Given the description of an element on the screen output the (x, y) to click on. 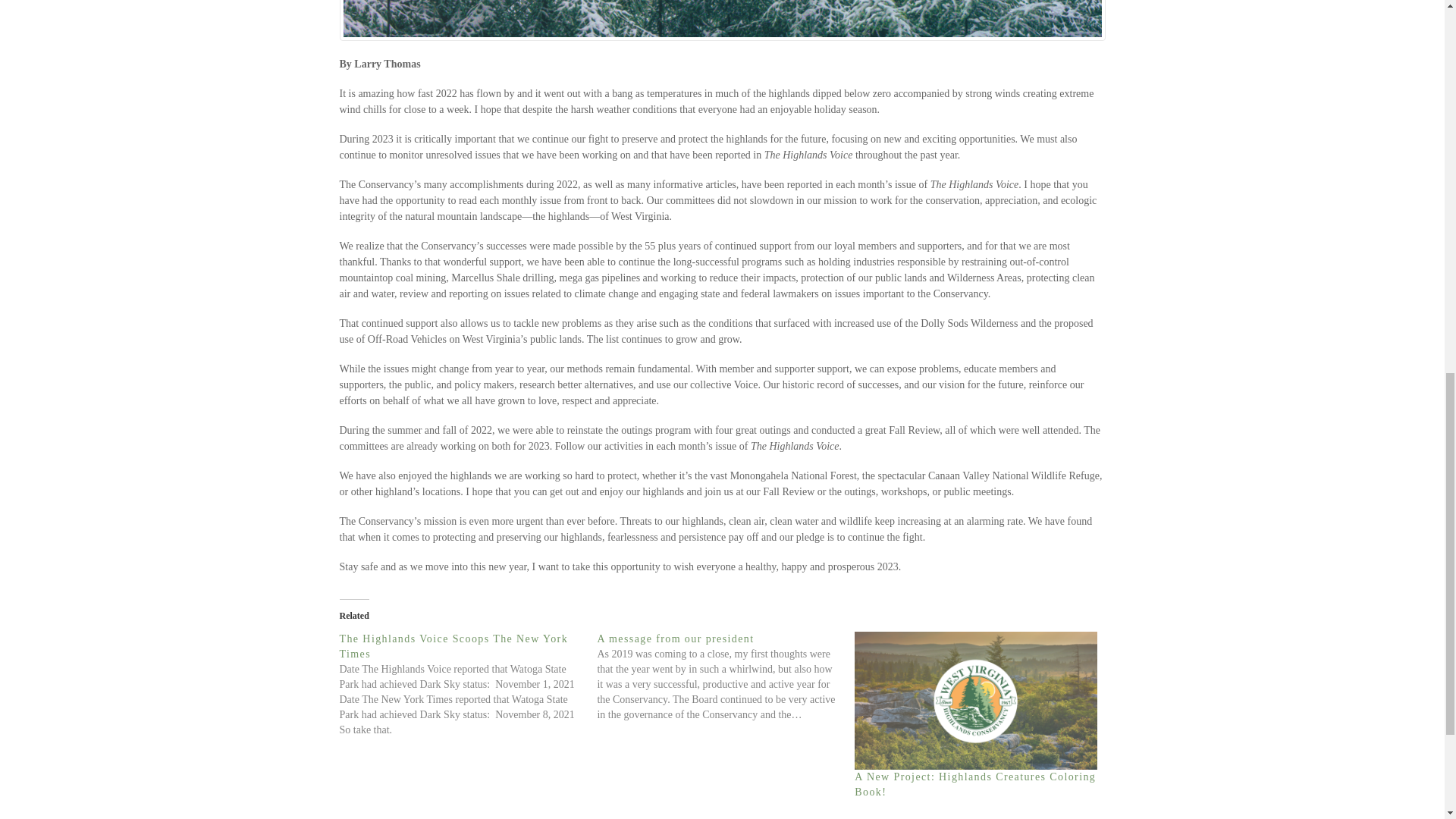
A message from our president (675, 637)
The Highlands Voice Scoops The New York Times (454, 645)
A New Project: Highlands Creatures Coloring Book! (975, 699)
The Highlands Voice Scoops The New York Times (467, 683)
A message from our president (725, 675)
The Highlands Voice Scoops The New York Times (454, 645)
A New Project: Highlands Creatures Coloring Book! (975, 784)
